Given the description of an element on the screen output the (x, y) to click on. 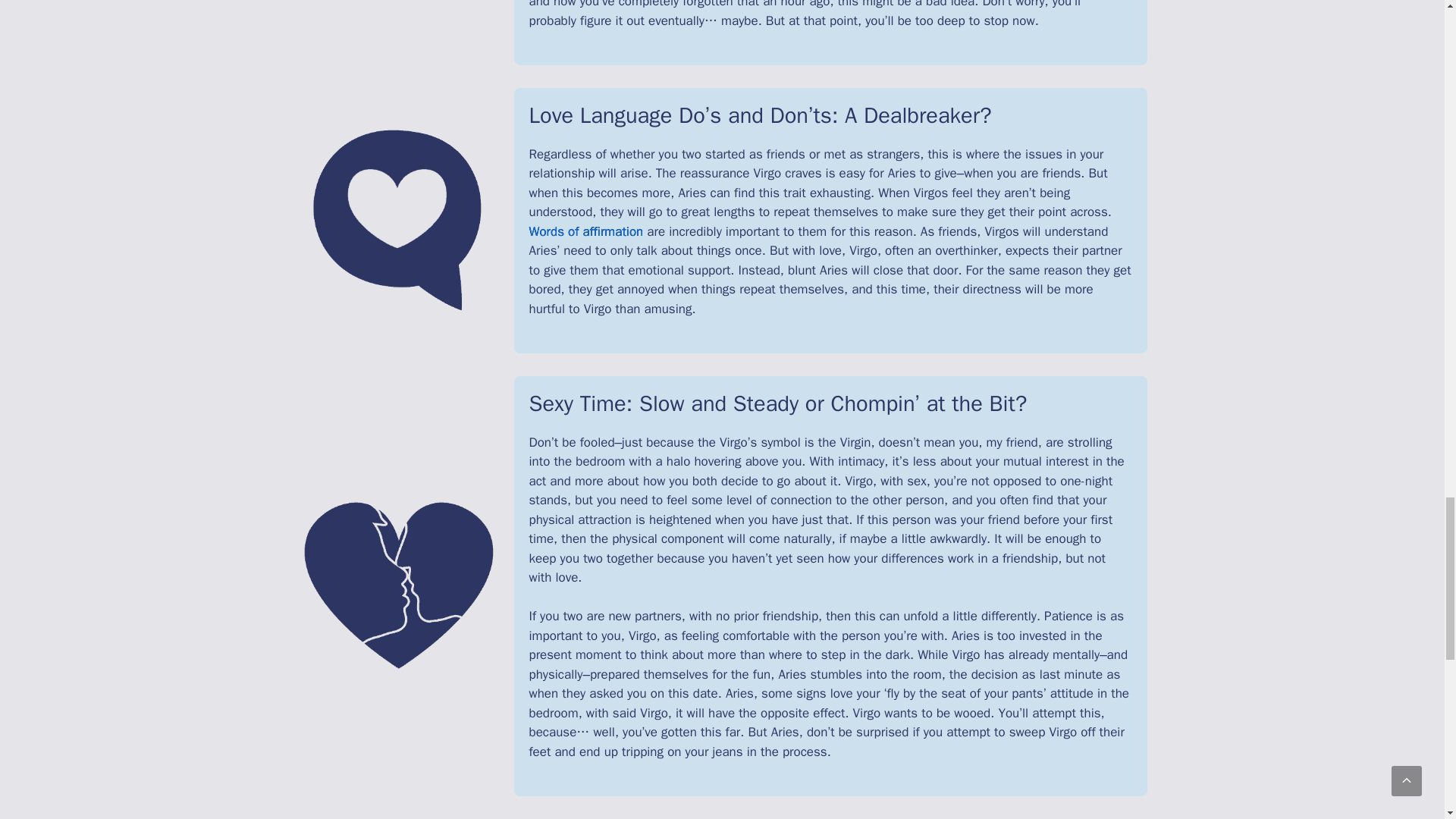
Sexy Time Icon (397, 585)
Love Language Icon (397, 220)
